Given the description of an element on the screen output the (x, y) to click on. 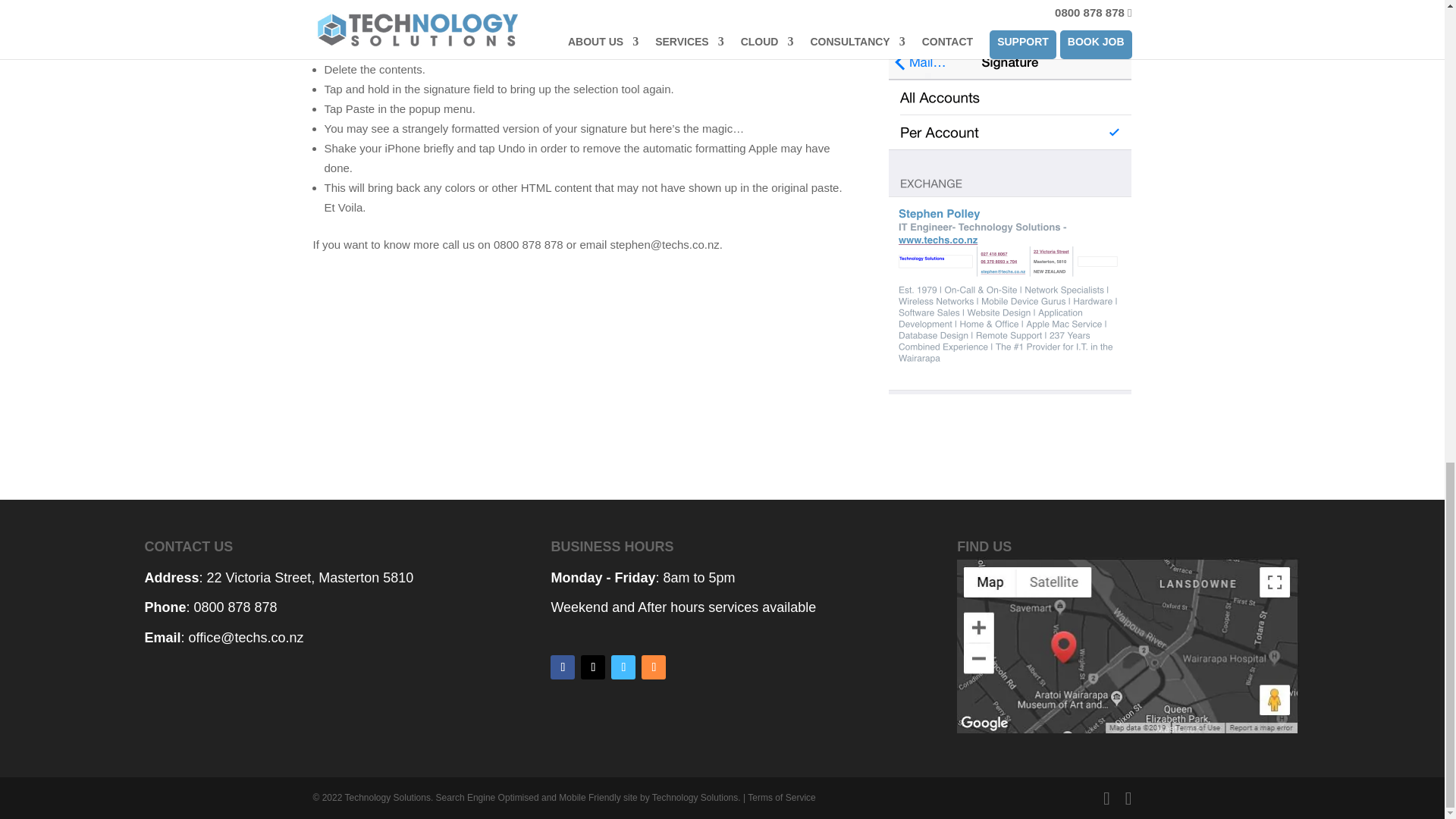
Follow on X (592, 667)
Terms of Service (781, 797)
Follow on Facebook (562, 667)
Follow on RSS (653, 667)
Follow on Vimeo (622, 667)
